Given the description of an element on the screen output the (x, y) to click on. 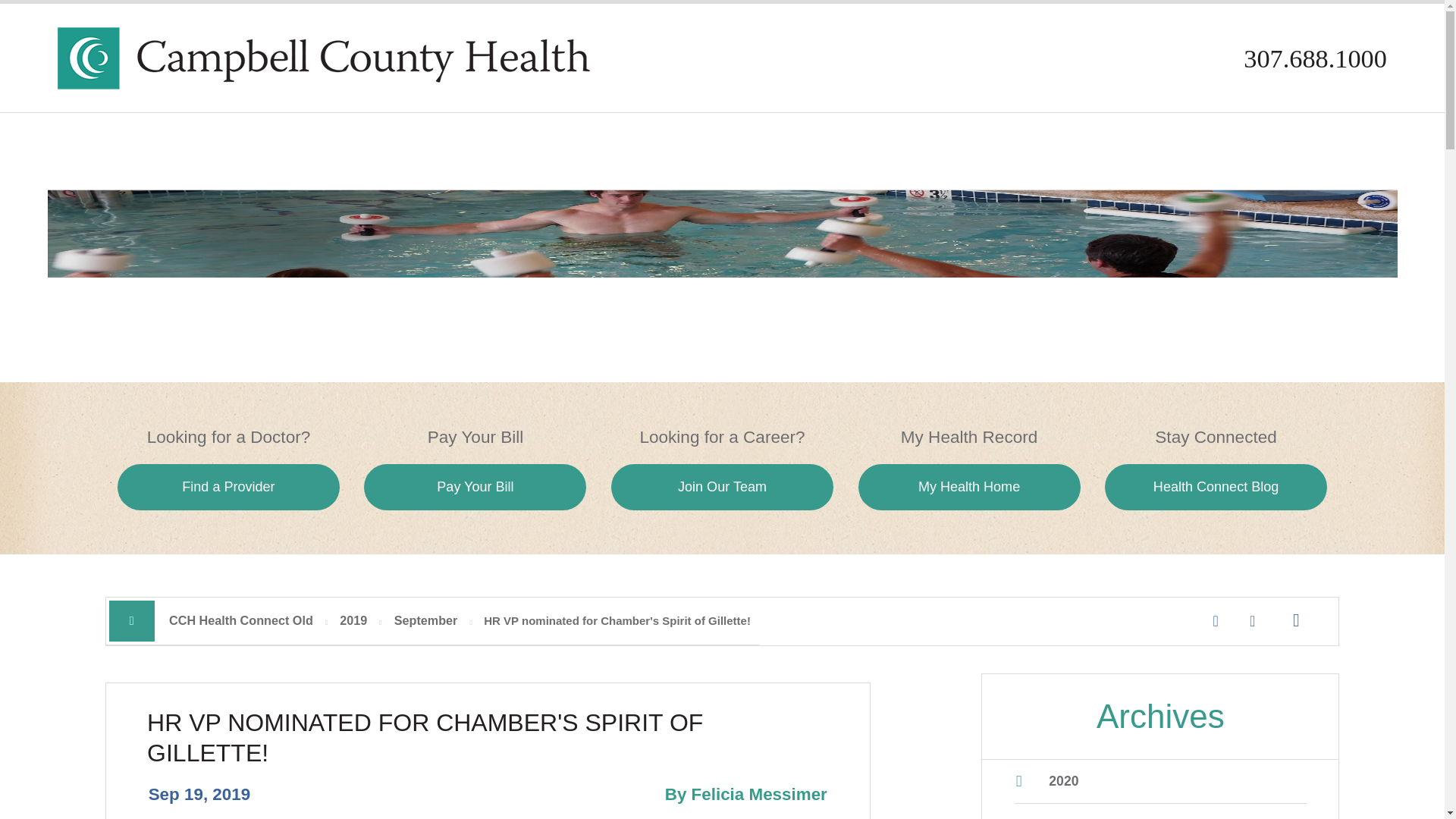
Printer-Friendly Page (1295, 619)
307.688.1000 (1315, 58)
Campbell County Health (323, 58)
